Given the description of an element on the screen output the (x, y) to click on. 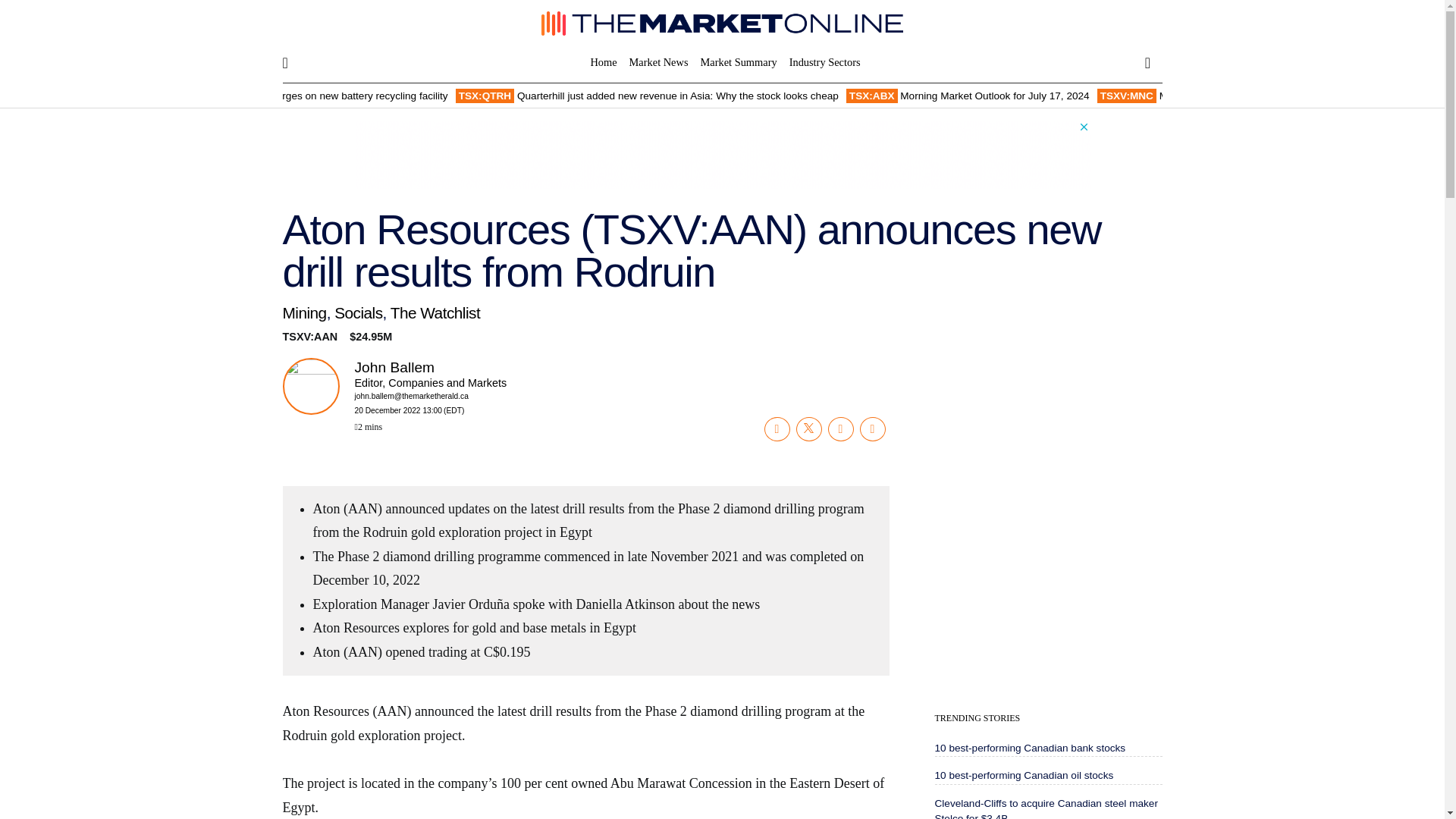
Market Summary (738, 62)
Home (606, 62)
3rd party ad content (722, 154)
3rd party ad content (1047, 596)
Industry Sectors (821, 62)
Market News (658, 62)
